Given the description of an element on the screen output the (x, y) to click on. 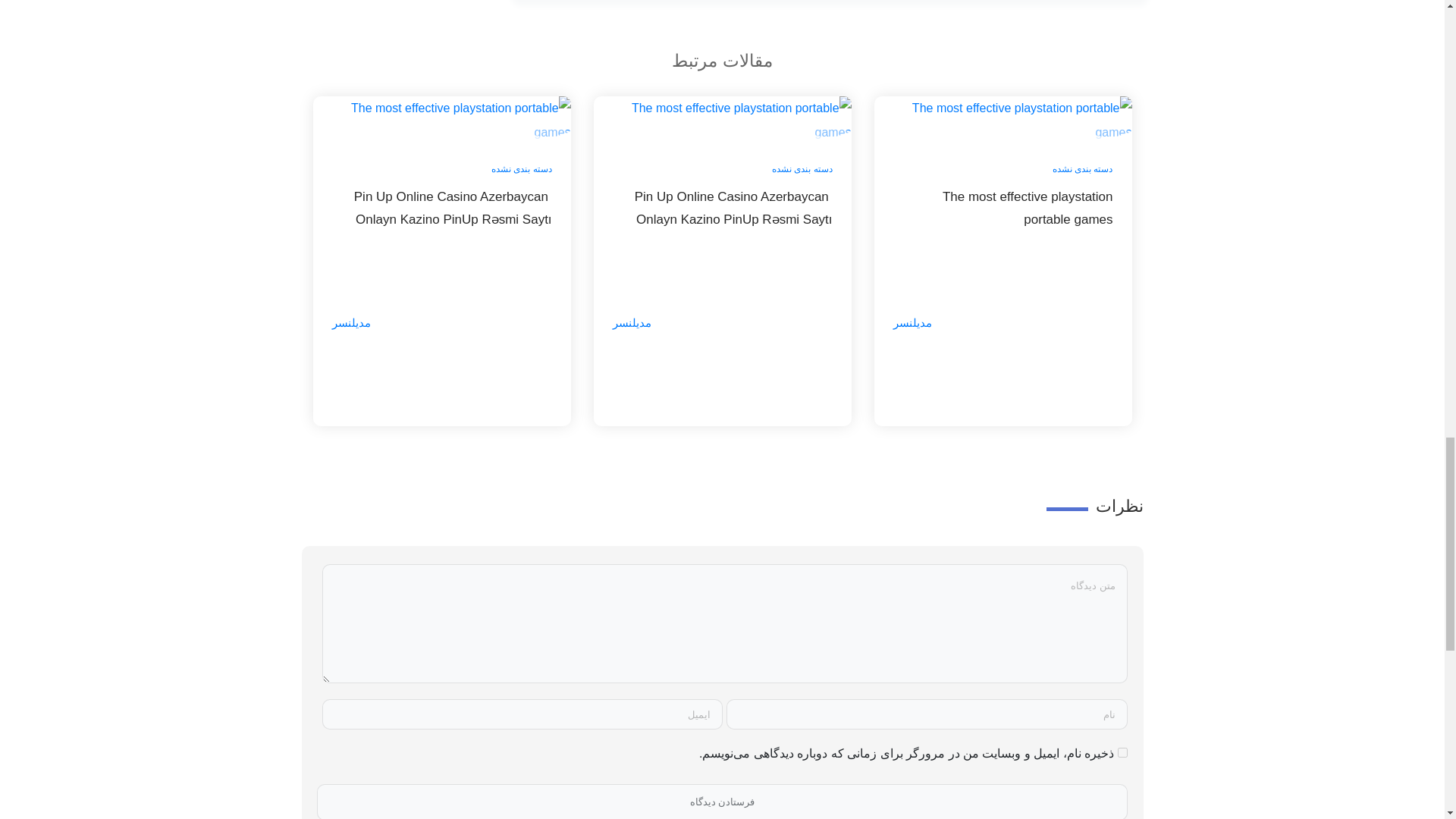
The most effective playstation portable games (1003, 219)
yes (1122, 752)
